Given the description of an element on the screen output the (x, y) to click on. 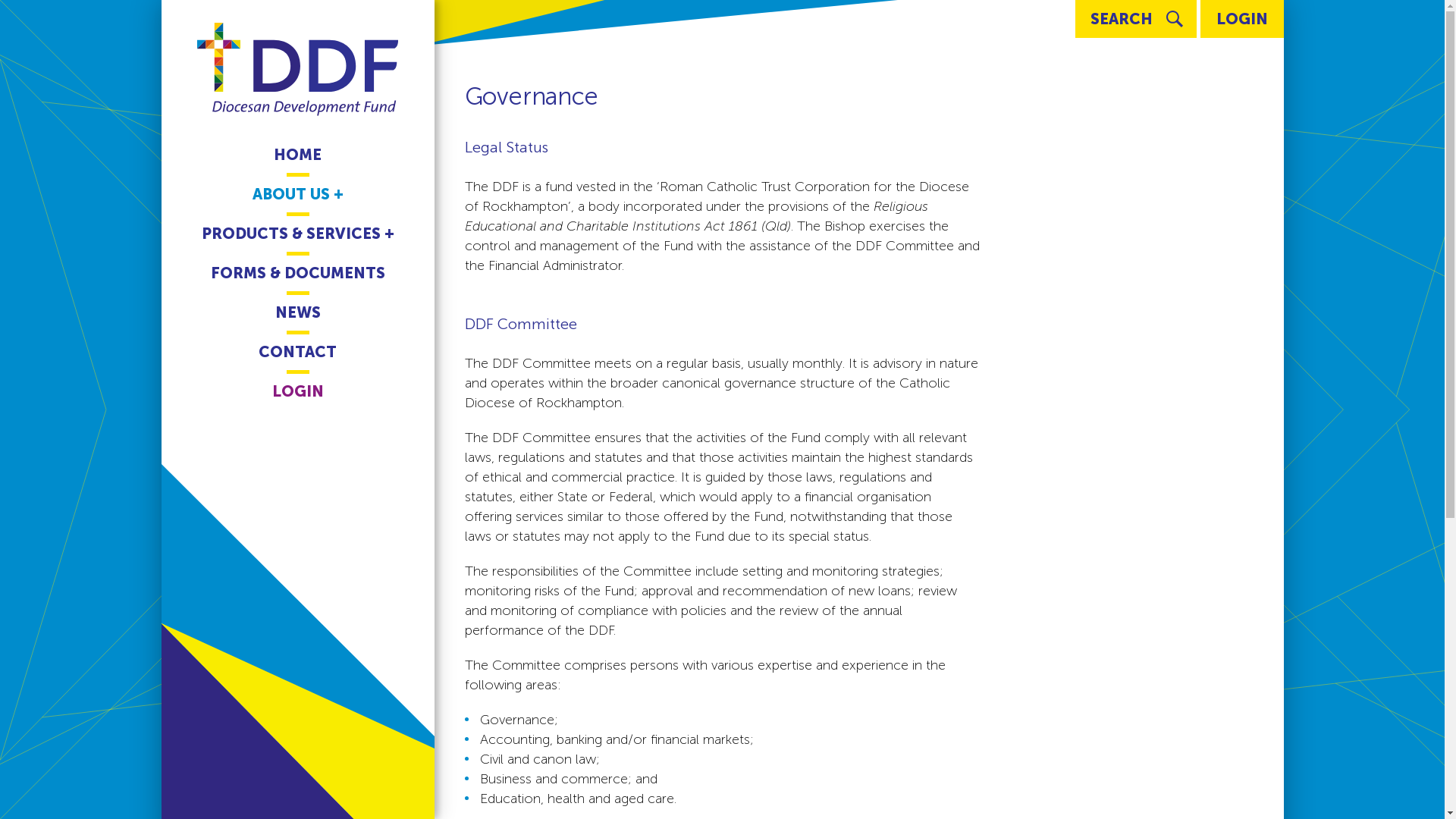
ABOUT US Element type: text (297, 193)
LOGIN Element type: text (297, 391)
search Element type: text (1174, 19)
Diocesan Development Fund Element type: hover (297, 69)
CONTACT Element type: text (297, 351)
PRODUCTS & SERVICES Element type: text (297, 233)
FORMS & DOCUMENTS Element type: text (297, 272)
NEWS Element type: text (297, 312)
HOME Element type: text (297, 154)
LOGIN Element type: text (1241, 18)
